Given the description of an element on the screen output the (x, y) to click on. 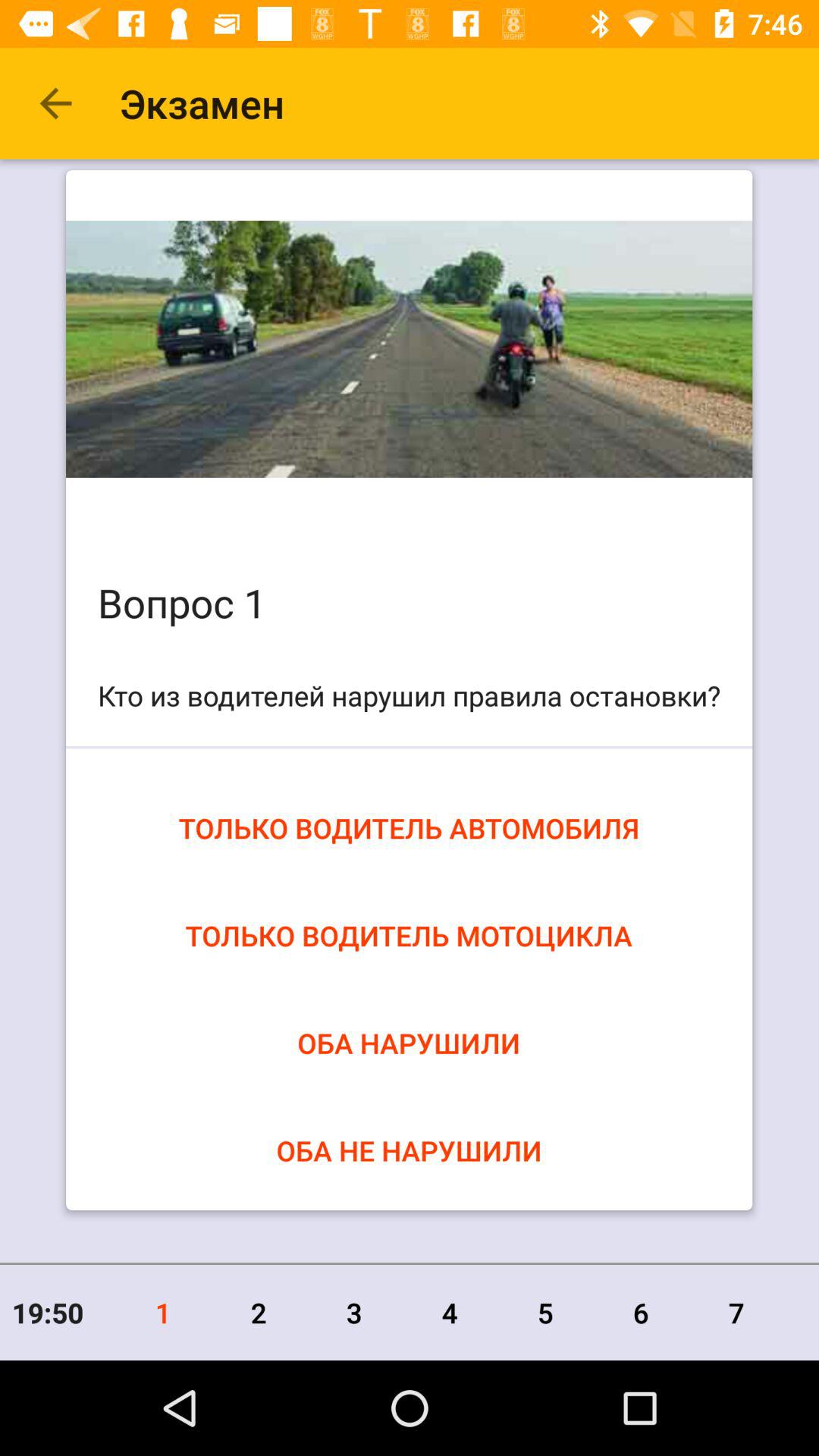
flip until the 8 icon (801, 1312)
